Given the description of an element on the screen output the (x, y) to click on. 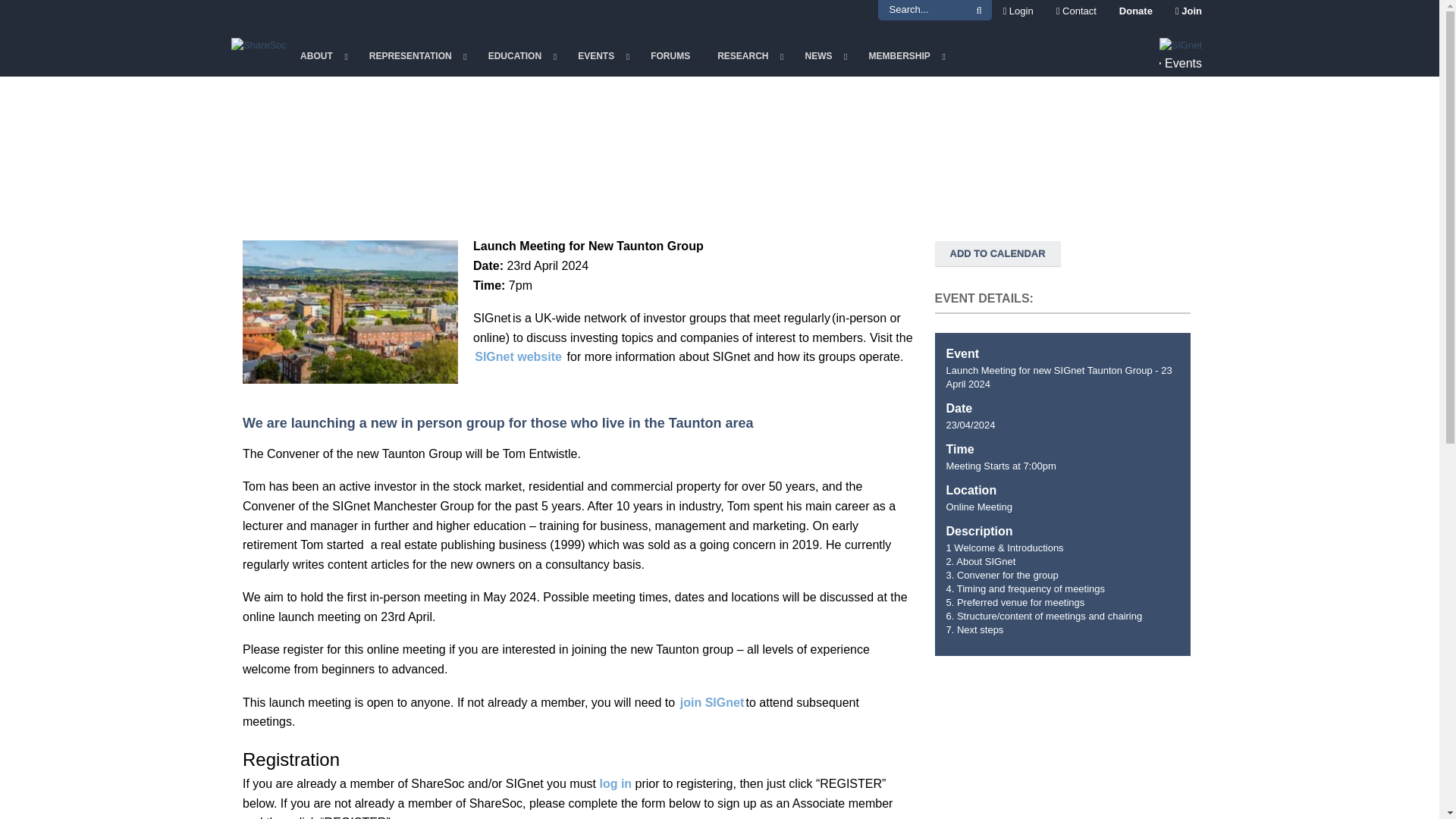
Join (1182, 11)
ABOUT (320, 56)
Donate (1135, 11)
REPRESENTATION (414, 56)
Login (1018, 11)
Contact (1076, 11)
